Given the description of an element on the screen output the (x, y) to click on. 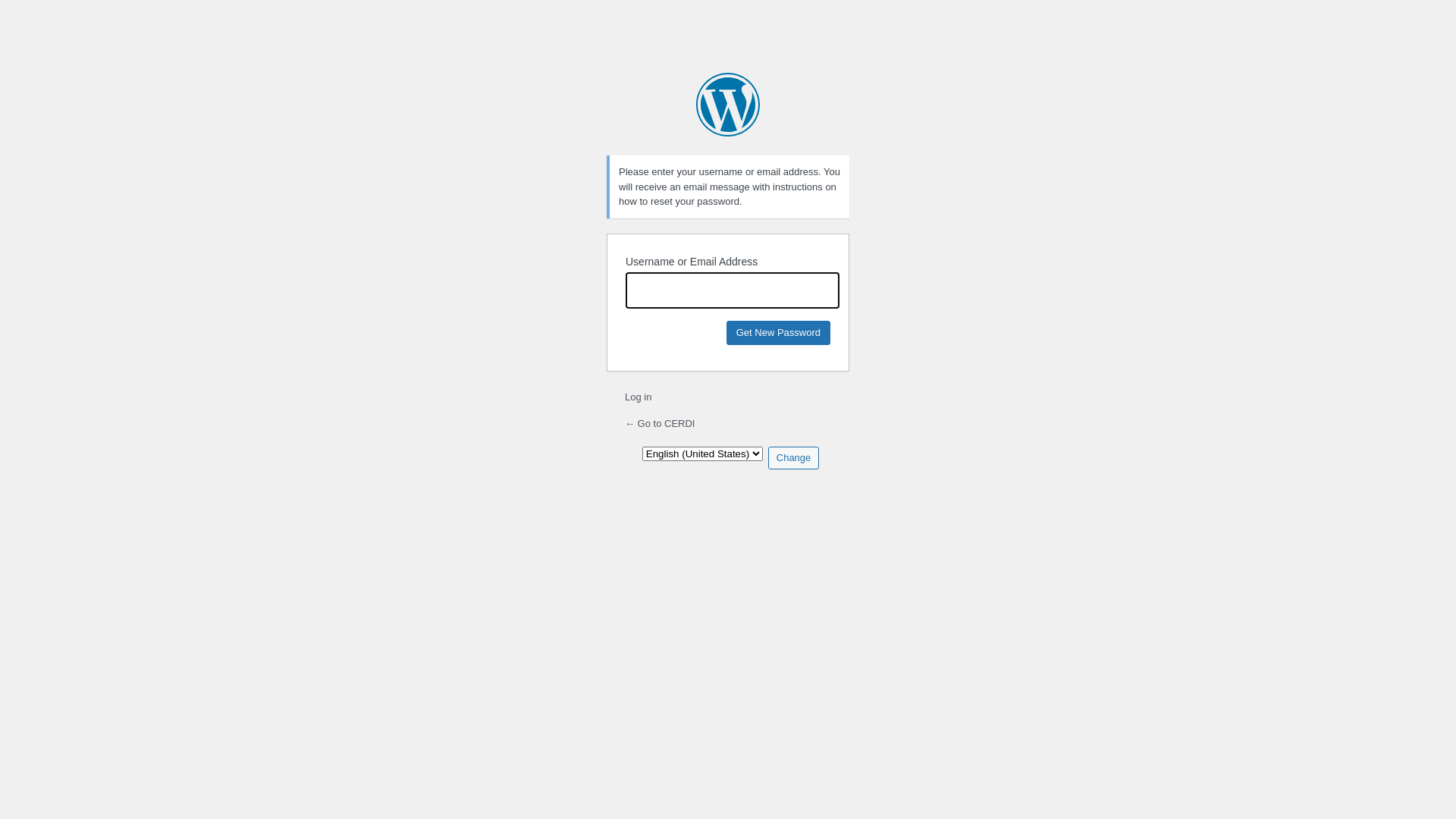
Change Element type: text (793, 456)
Powered by WordPress Element type: text (727, 104)
Get New Password Element type: text (778, 332)
Log in Element type: text (637, 396)
